Given the description of an element on the screen output the (x, y) to click on. 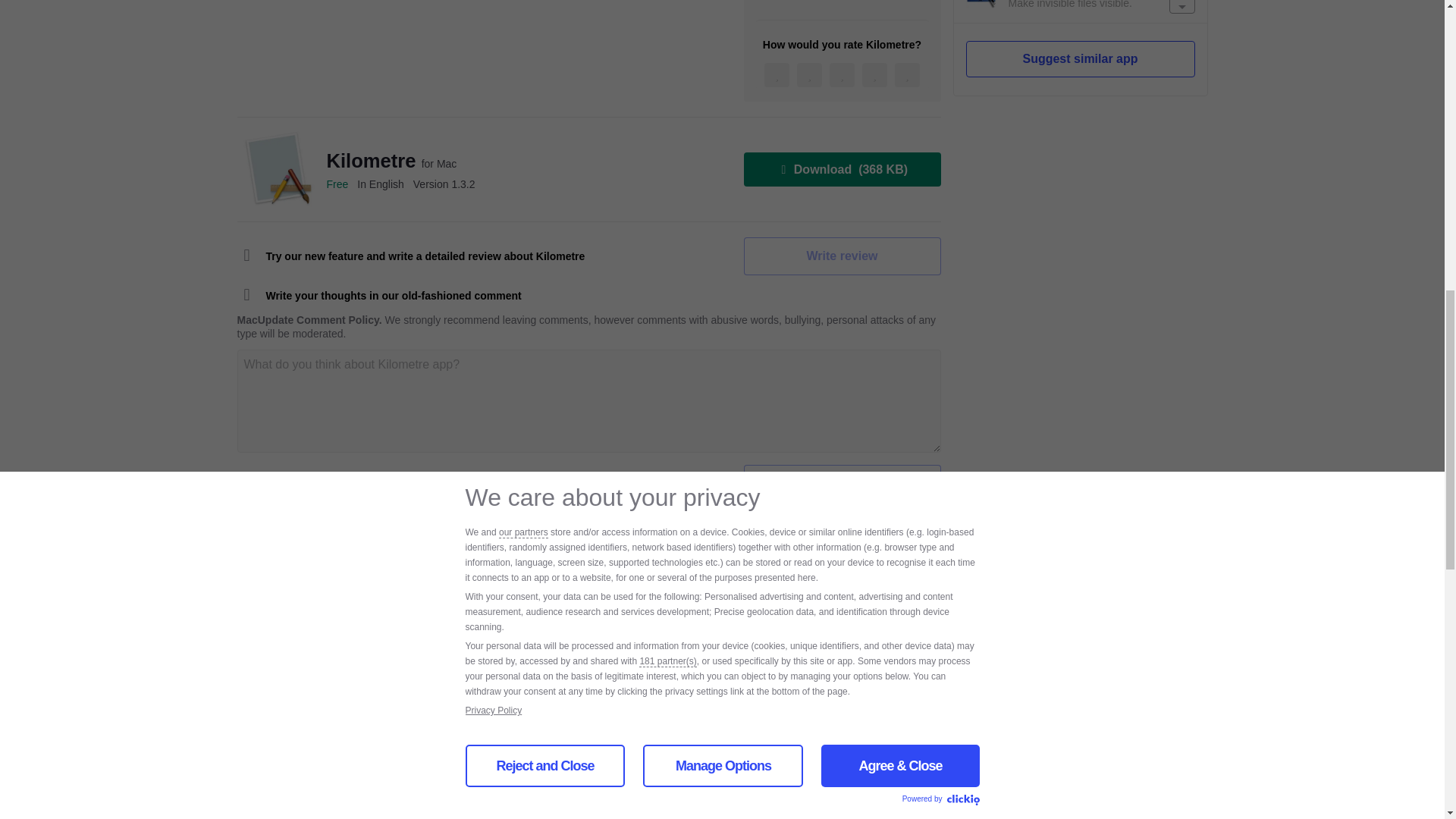
Version: 1.3.2 (844, 611)
John Appleseed (360, 611)
Version: 1.3.0 (844, 791)
1.3.2 (444, 184)
liquidhelsinki (352, 791)
